Given the description of an element on the screen output the (x, y) to click on. 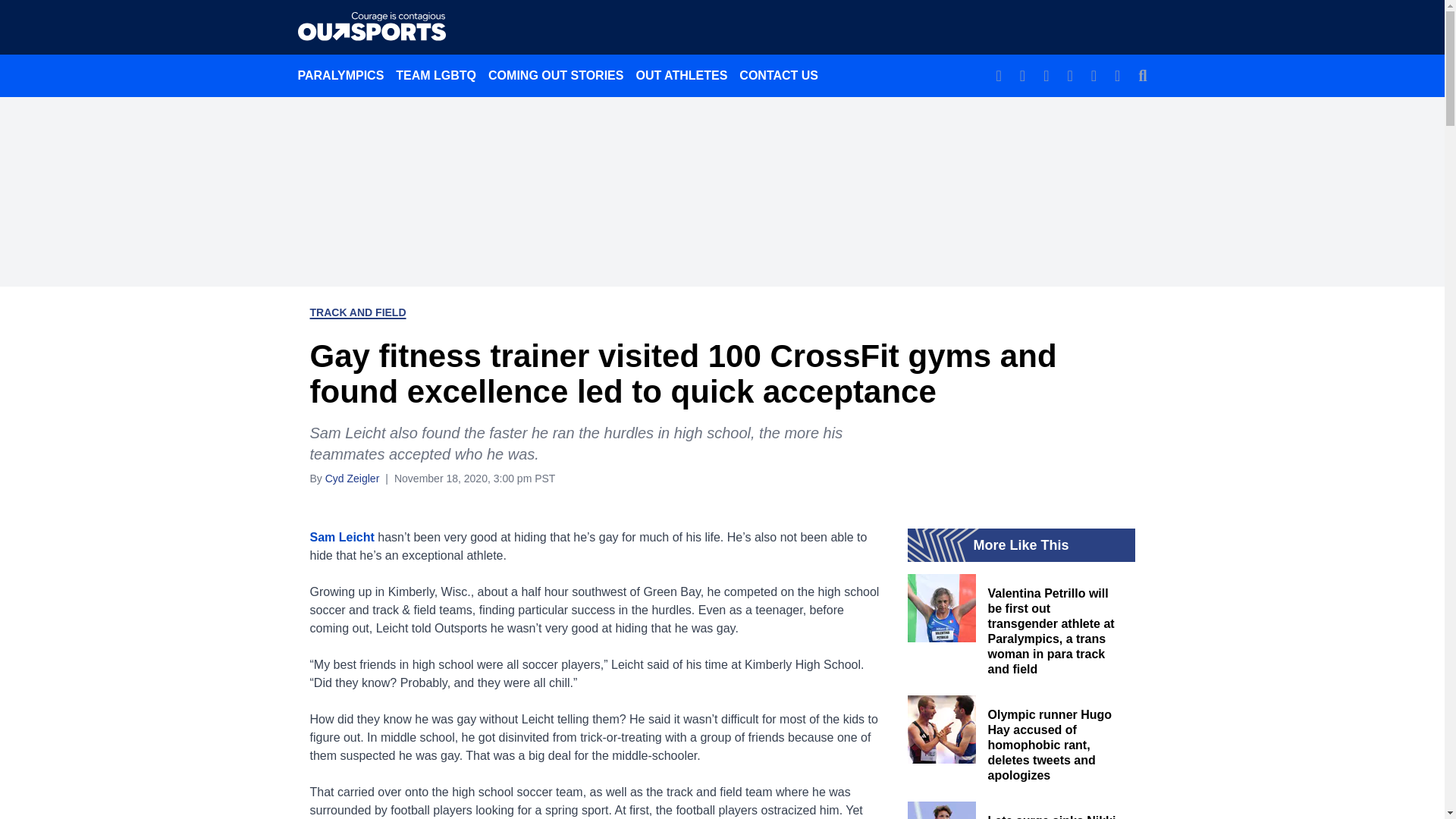
Sam Leicht (341, 536)
TEAM LGBTQ (435, 75)
TRACK AND FIELD (357, 312)
CONTACT US (778, 75)
OUT ATHLETES (680, 75)
Cyd Zeigler (352, 477)
COMING OUT STORIES (554, 75)
